Given the description of an element on the screen output the (x, y) to click on. 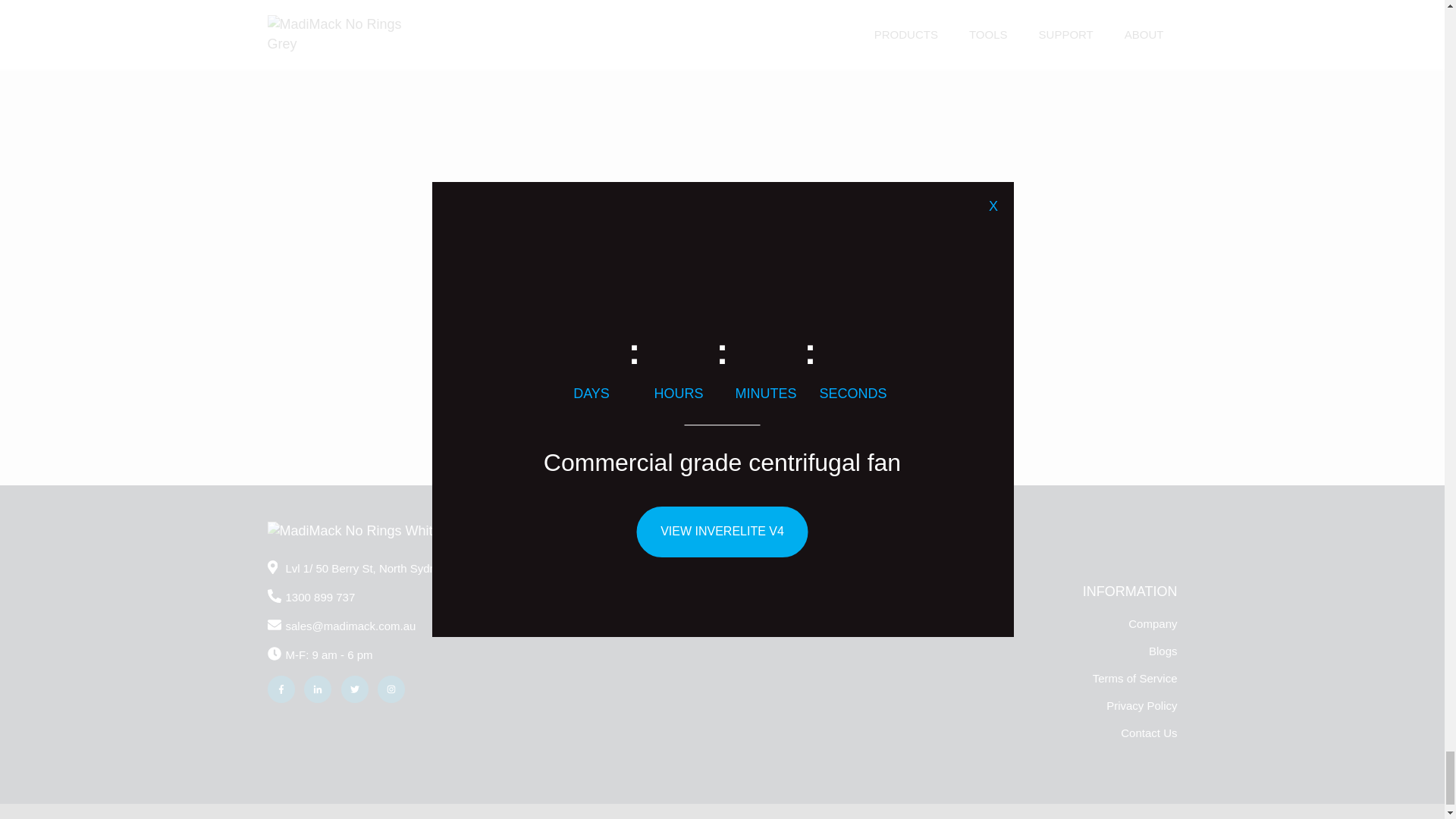
MadiMack No Rings White (352, 530)
